Given the description of an element on the screen output the (x, y) to click on. 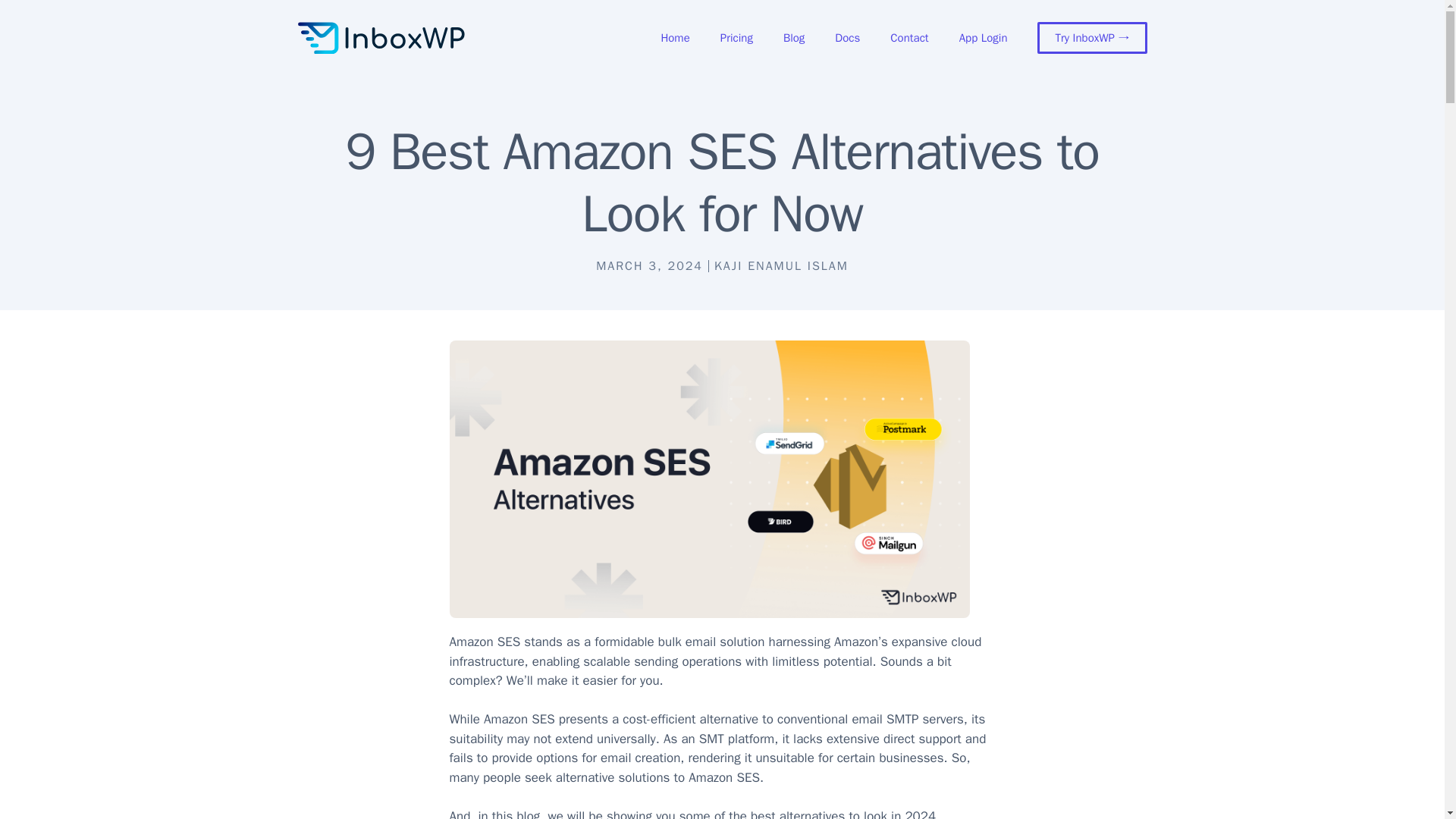
KAJI ENAMUL ISLAM (781, 265)
Home (674, 37)
App Login (983, 37)
Pricing (736, 37)
Docs (847, 37)
Blog (793, 37)
Contact (909, 37)
